Given the description of an element on the screen output the (x, y) to click on. 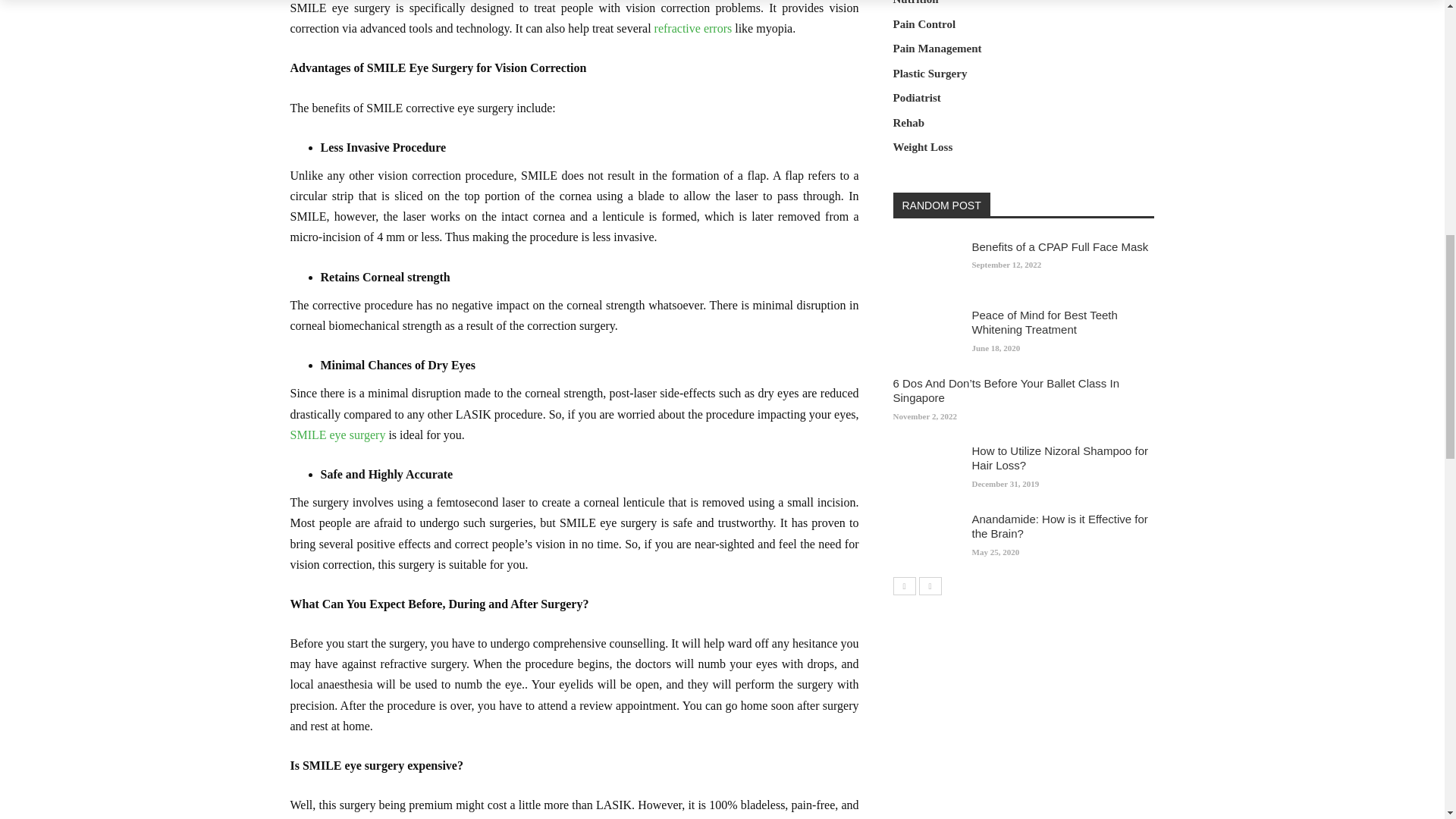
Next (930, 585)
Previous (904, 585)
